Given the description of an element on the screen output the (x, y) to click on. 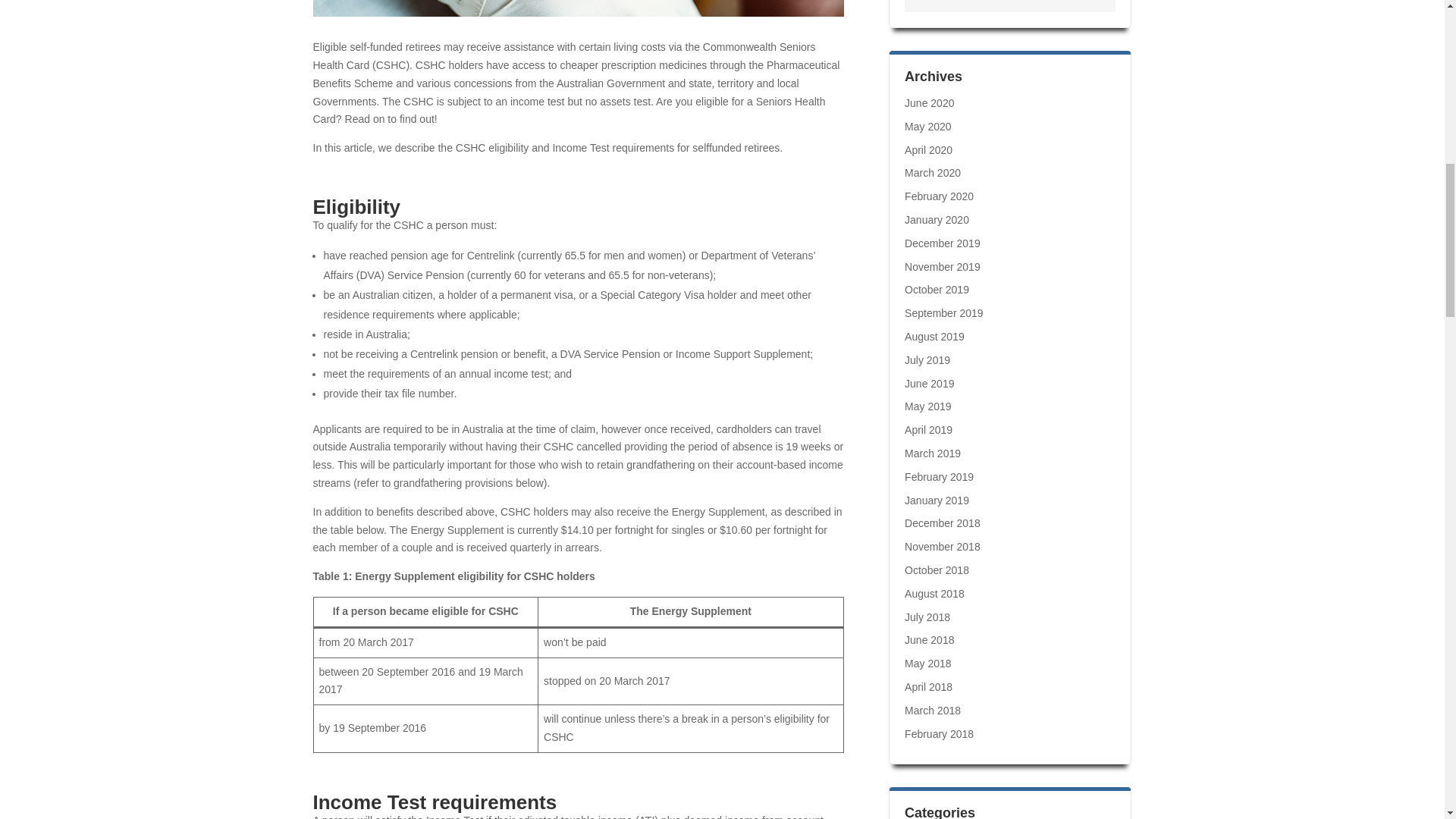
Are you eligible for a seniors health card (578, 7)
June 2020 (928, 102)
March 2020 (932, 173)
April 2020 (928, 150)
February 2020 (939, 196)
November 2019 (941, 266)
August 2019 (933, 336)
December 2019 (941, 243)
October 2019 (936, 289)
May 2020 (927, 126)
